Given the description of an element on the screen output the (x, y) to click on. 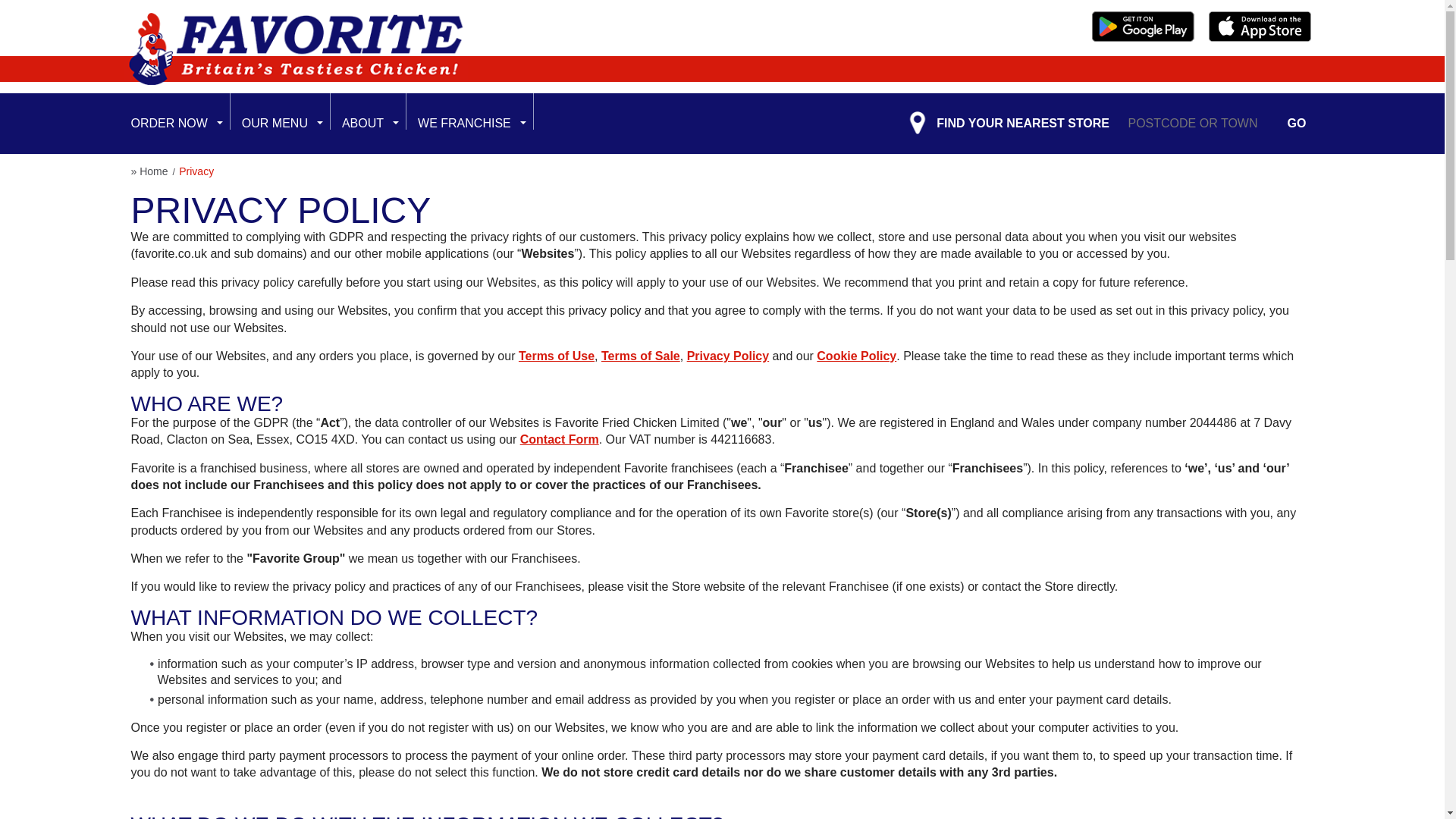
Home (154, 171)
Privacy (196, 171)
About (358, 123)
Cookie Policy (856, 355)
WE FRANCHISE (460, 123)
Privacy Policy (728, 355)
Terms of Use (556, 355)
Privacy (196, 171)
Terms of Sale (640, 355)
Contact Form (558, 439)
